Given the description of an element on the screen output the (x, y) to click on. 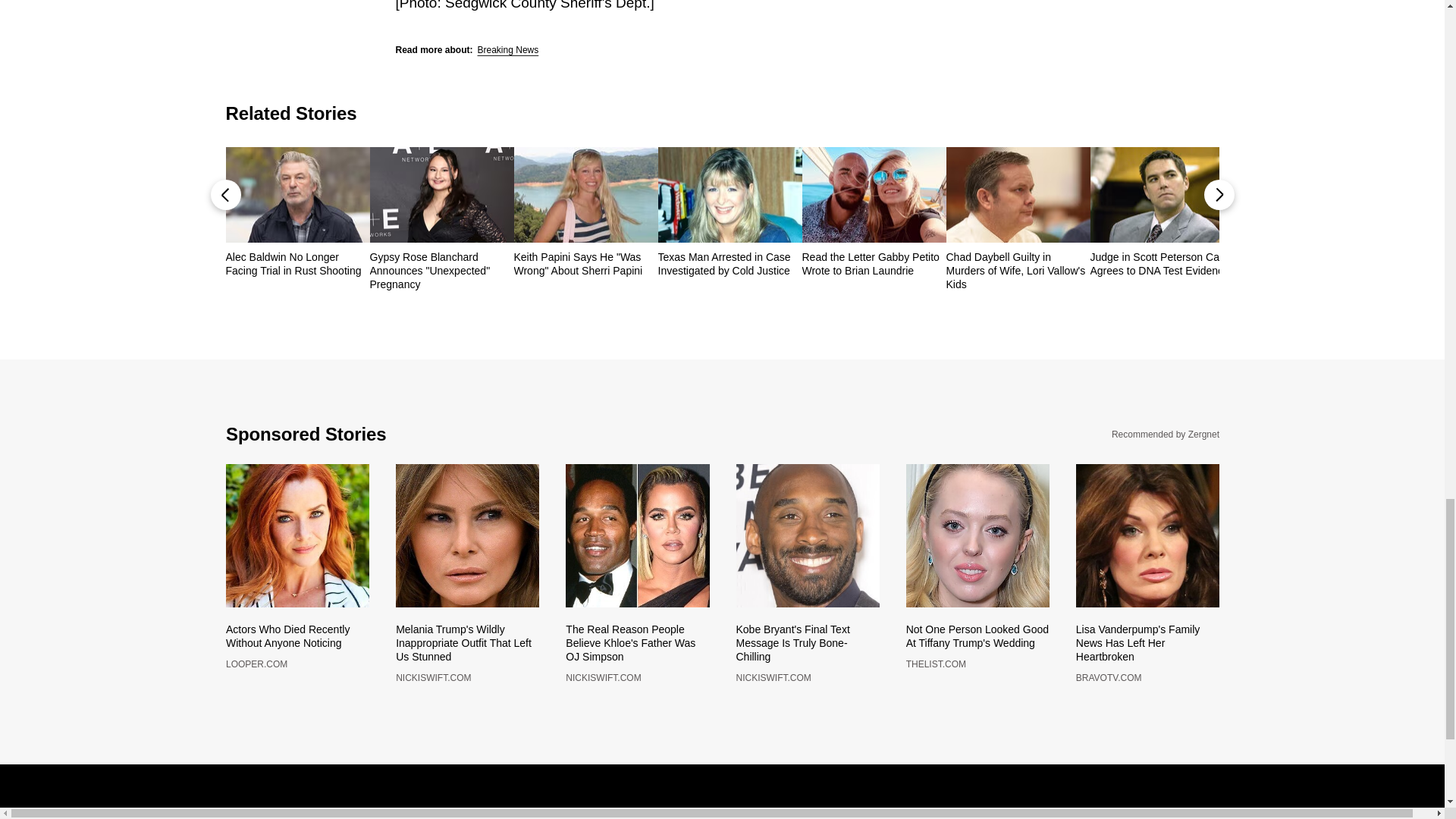
Read the Letter Gabby Petito Wrote to Brian Laundrie (874, 263)
Chad Daybell Guilty in Murders of Wife, Lori Vallow's Kids (1018, 270)
Texas Man Arrested in Case Investigated by Cold Justice (730, 263)
Breaking News (507, 50)
Gypsy Rose Blanchard Announces "Unexpected" Pregnancy (441, 270)
Alec Baldwin No Longer Facing Trial in Rust Shooting (297, 263)
Keith Papini Says He "Was Wrong" About Sherri Papini (585, 263)
